Given the description of an element on the screen output the (x, y) to click on. 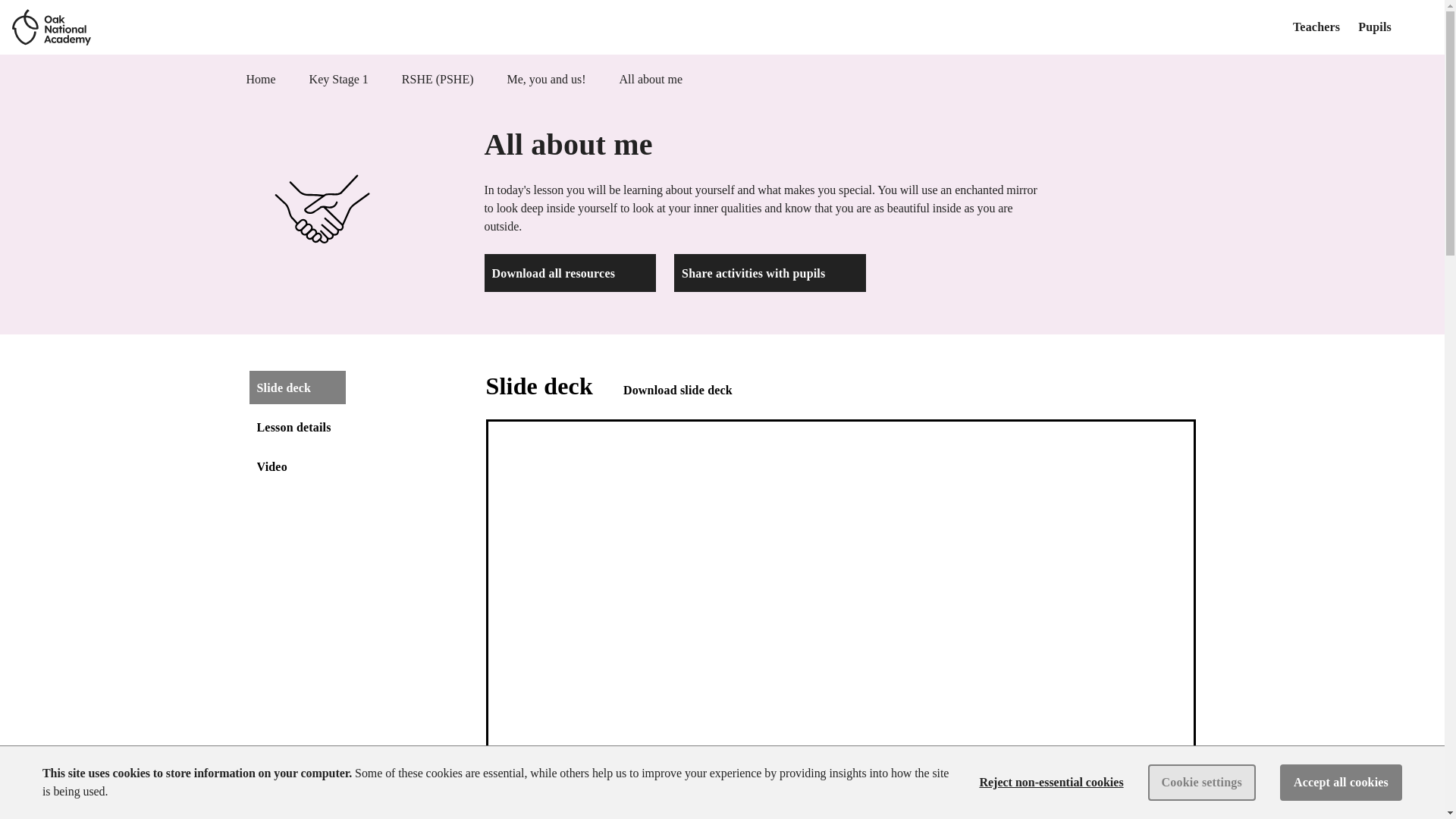
Share activities with pupils (770, 272)
Teachers (1315, 27)
Video (271, 466)
Oak National Academy (50, 27)
Lesson details (292, 426)
Pupils (1374, 27)
Download slide deck (691, 389)
Key Stage 1 (338, 78)
Home (260, 78)
Me, you and us! (545, 78)
